Given the description of an element on the screen output the (x, y) to click on. 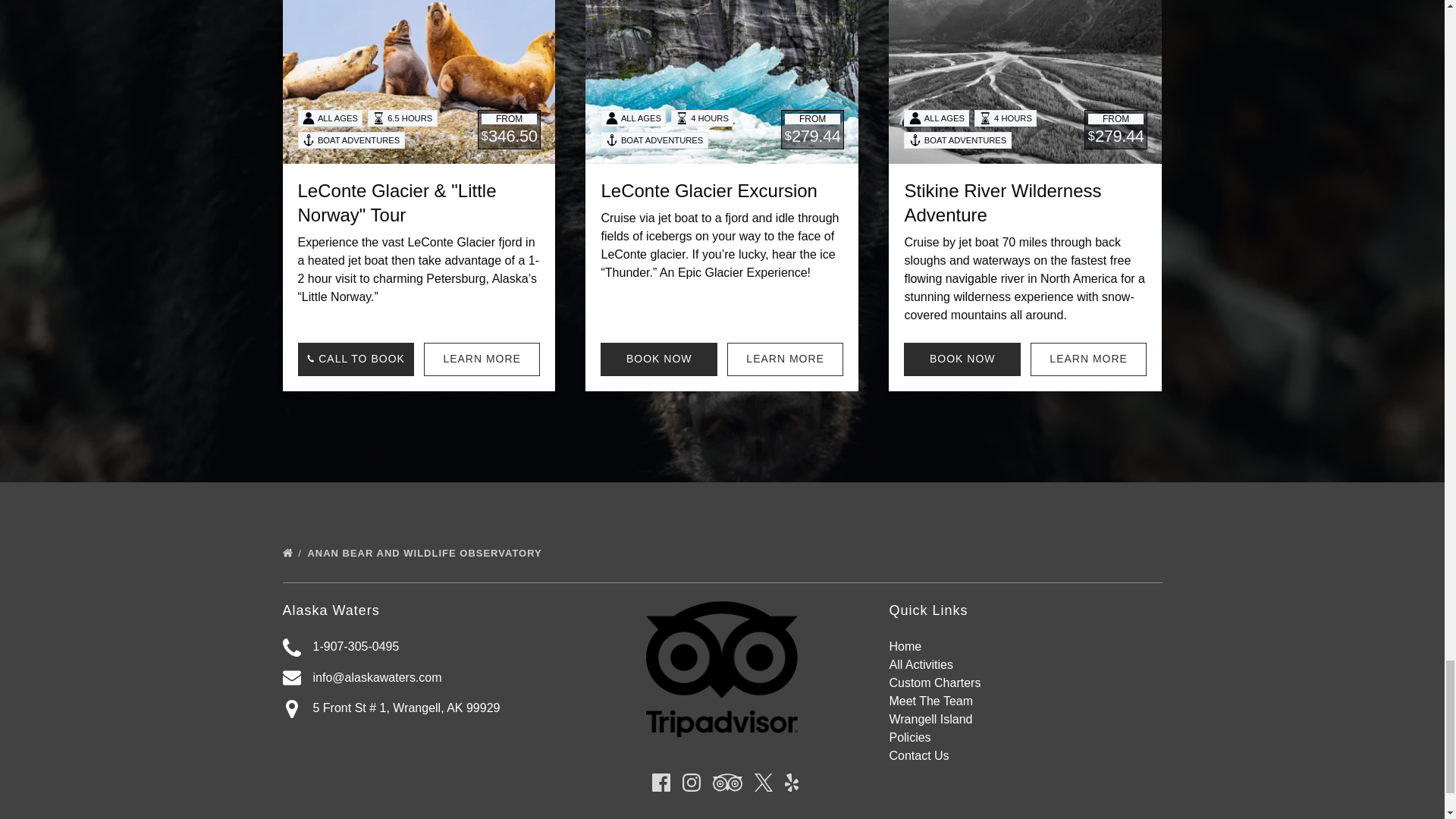
Map Marker (290, 709)
Phone (290, 647)
Envelope (290, 678)
